Given the description of an element on the screen output the (x, y) to click on. 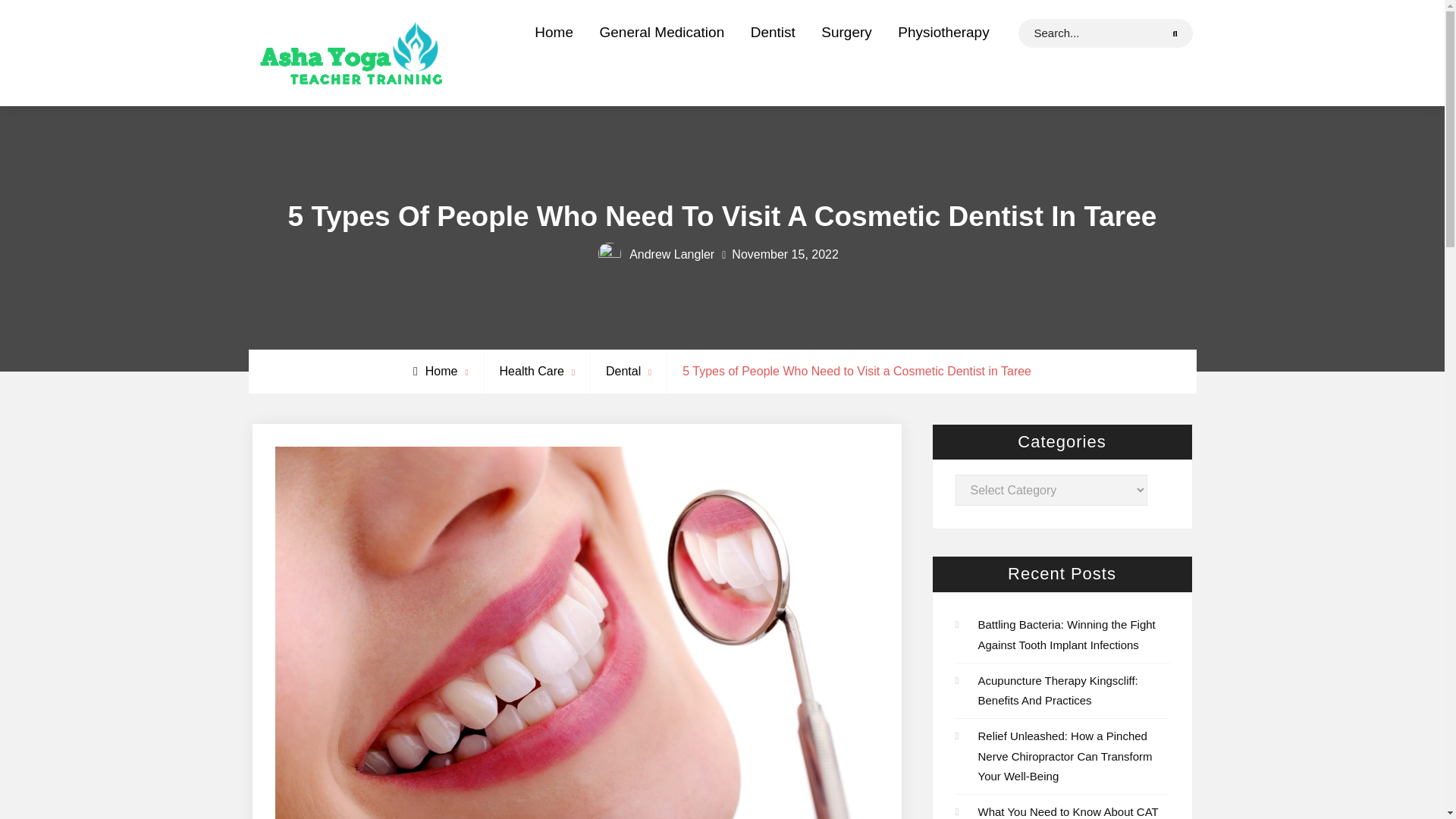
Home (553, 31)
What You Need to Know About CAT Rehabilitation (1068, 812)
General Medication (661, 31)
Home (435, 370)
Health Care (531, 370)
November 15, 2022 (785, 254)
Dentist (772, 31)
Acupuncture Therapy Kingscliff: Benefits And Practices (1058, 690)
Dental (622, 370)
